Given the description of an element on the screen output the (x, y) to click on. 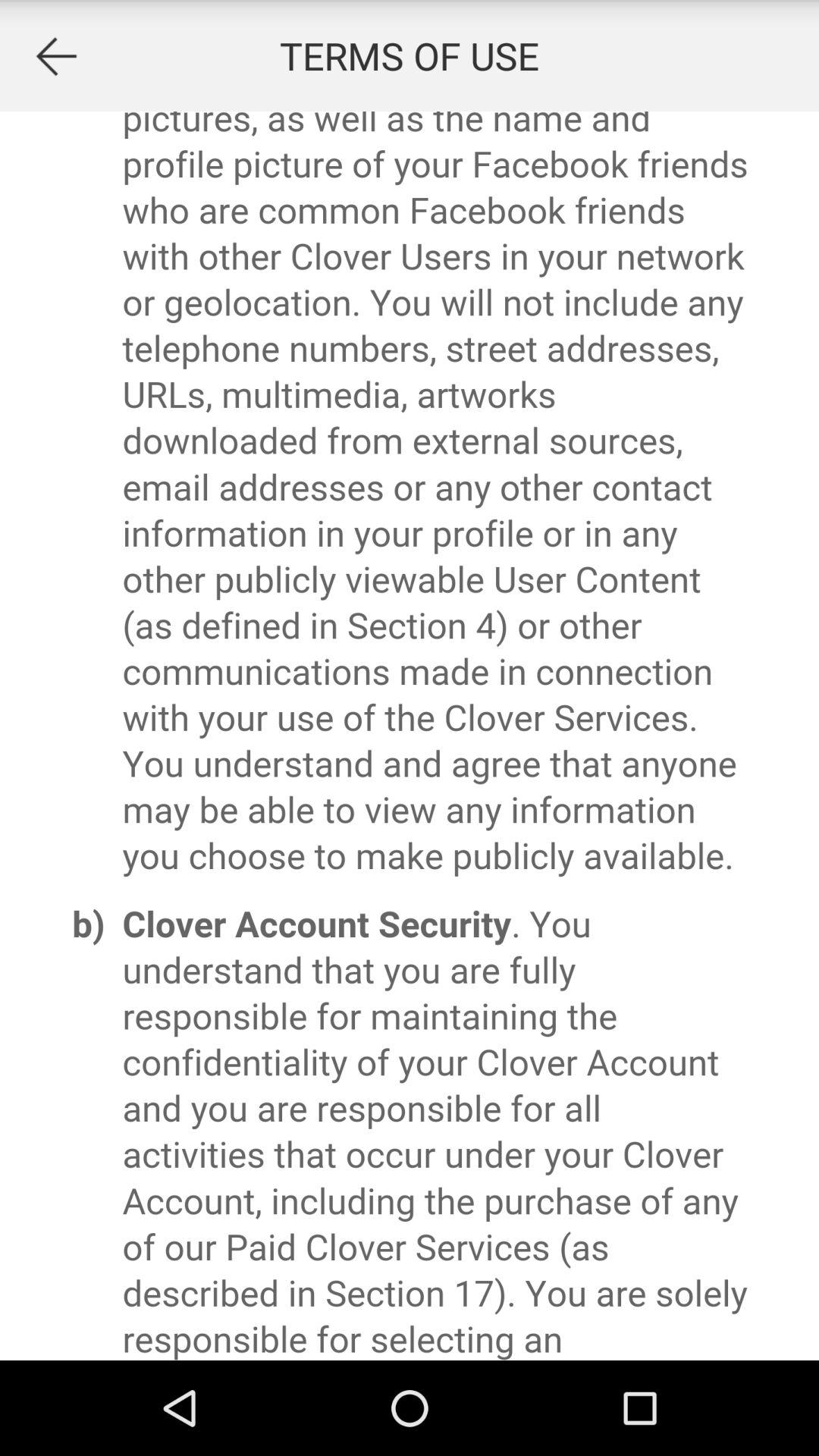
go to advertisement (55, 55)
